Given the description of an element on the screen output the (x, y) to click on. 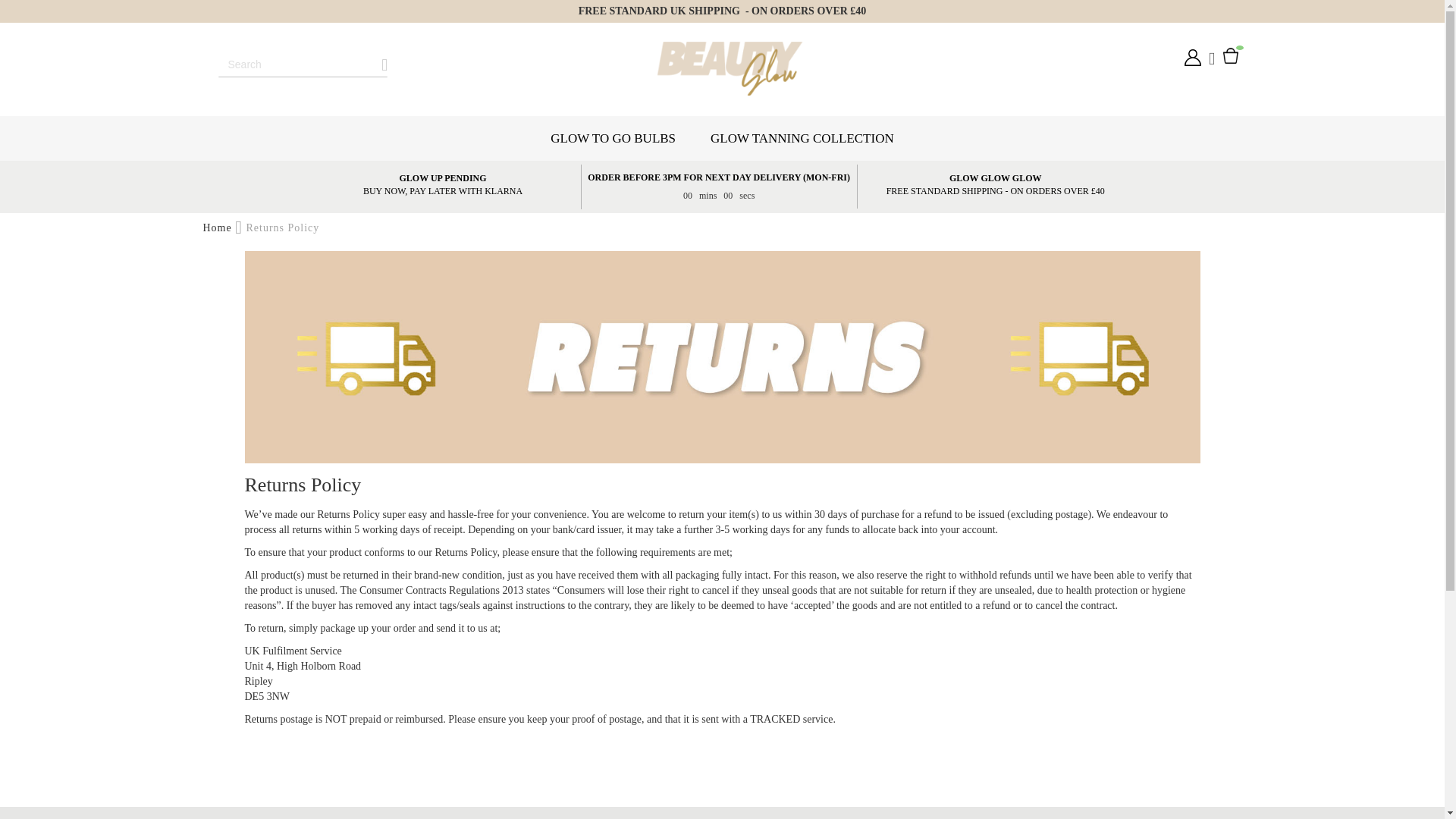
Home (219, 227)
GLOW TO GO BULBS (612, 138)
Go to Home Page (219, 227)
GLOW TANNING COLLECTION (802, 138)
